Given the description of an element on the screen output the (x, y) to click on. 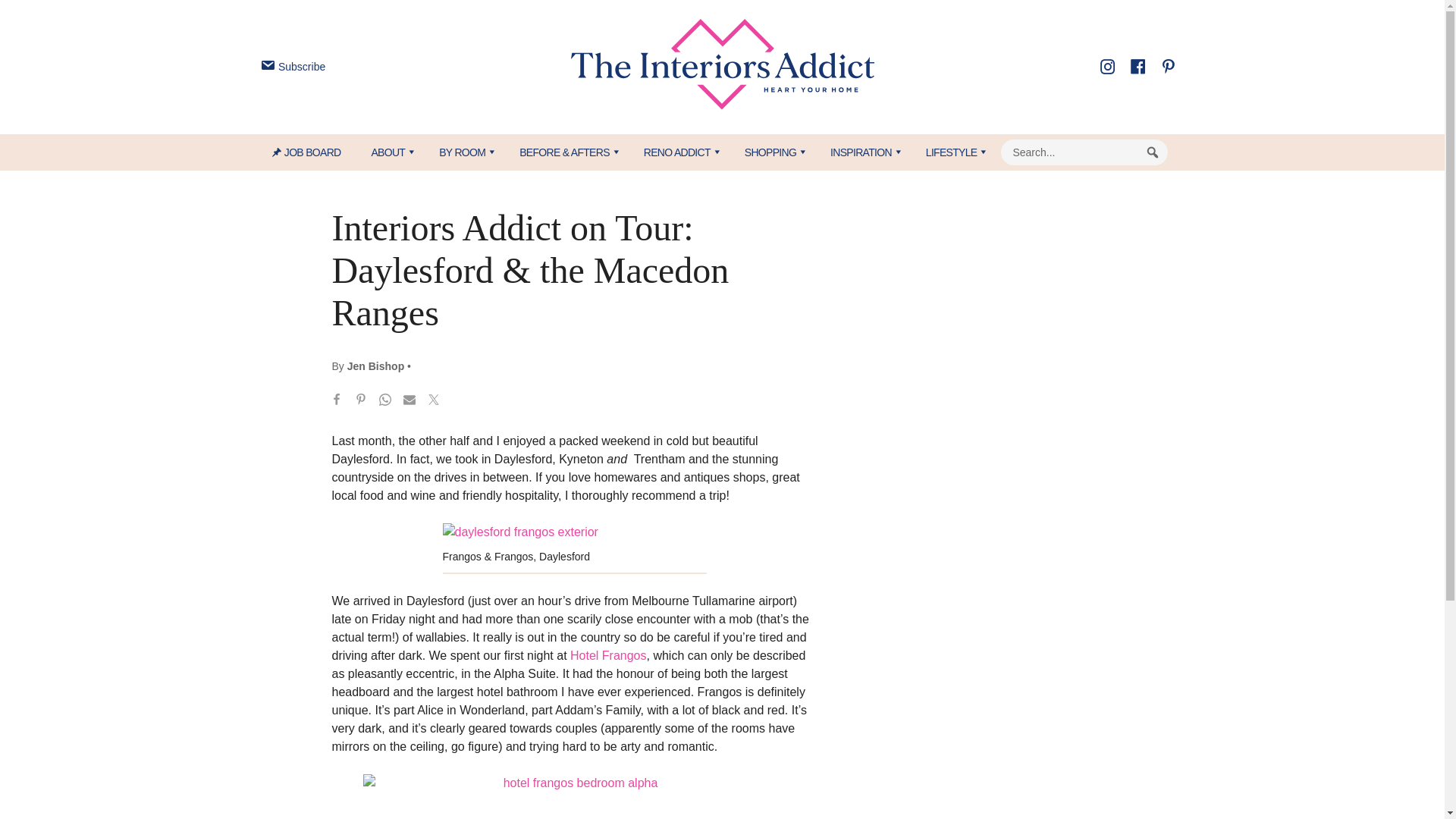
Share on Facebook (336, 401)
BY ROOM (463, 152)
Share on Twitter (433, 401)
Share on Pinterest (360, 401)
Share via Email (409, 401)
YES PLEASE! (793, 294)
Search (1152, 151)
Subscribe (291, 66)
ABOUT (389, 152)
